Given the description of an element on the screen output the (x, y) to click on. 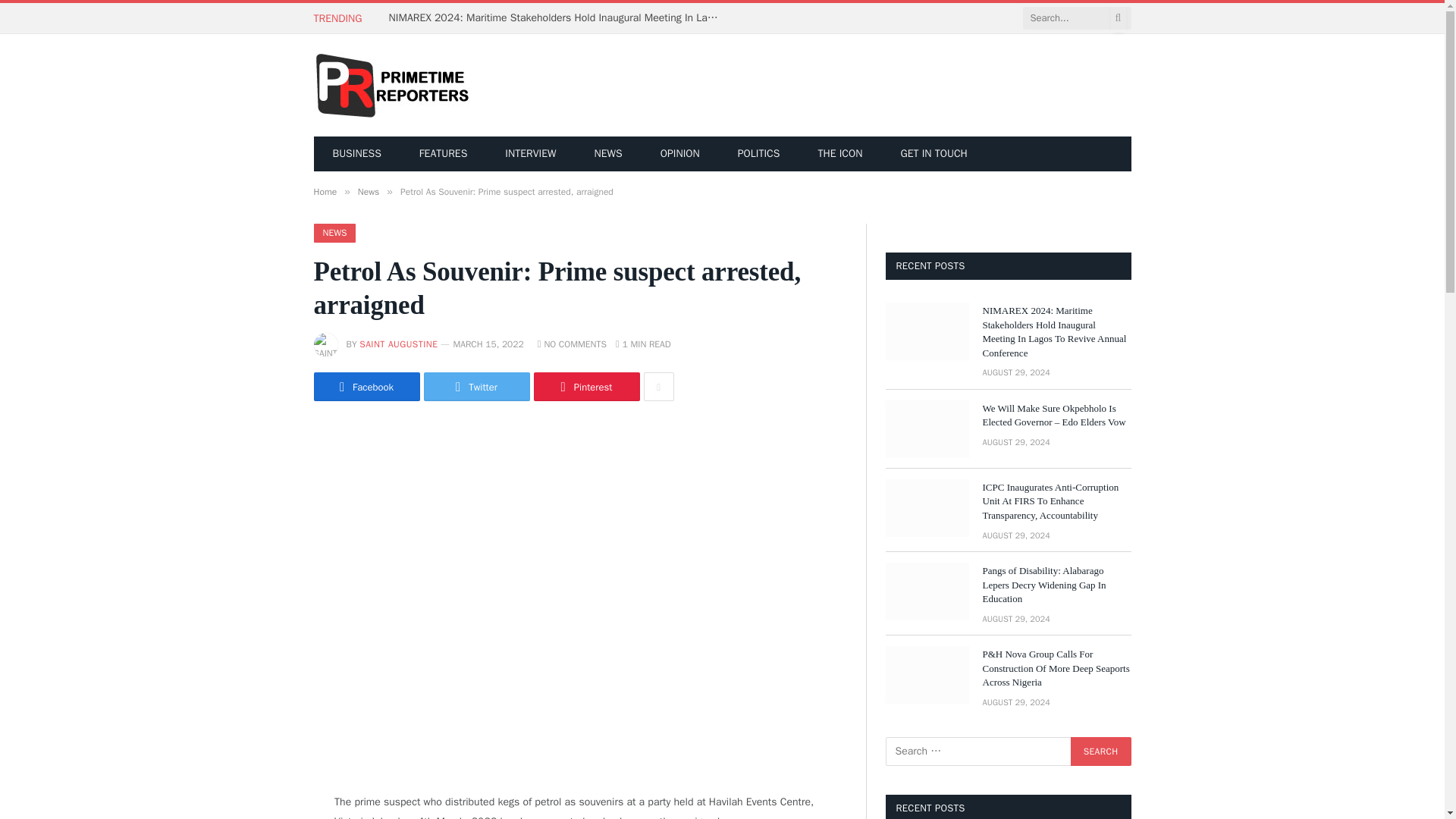
NEWS (607, 153)
THE ICON (838, 153)
Share on Facebook (367, 386)
Posts by Saint Augustine (398, 344)
GET IN TOUCH (932, 153)
Prime Time Reporters (392, 85)
FEATURES (443, 153)
POLITICS (759, 153)
Share on Pinterest (587, 386)
